Given the description of an element on the screen output the (x, y) to click on. 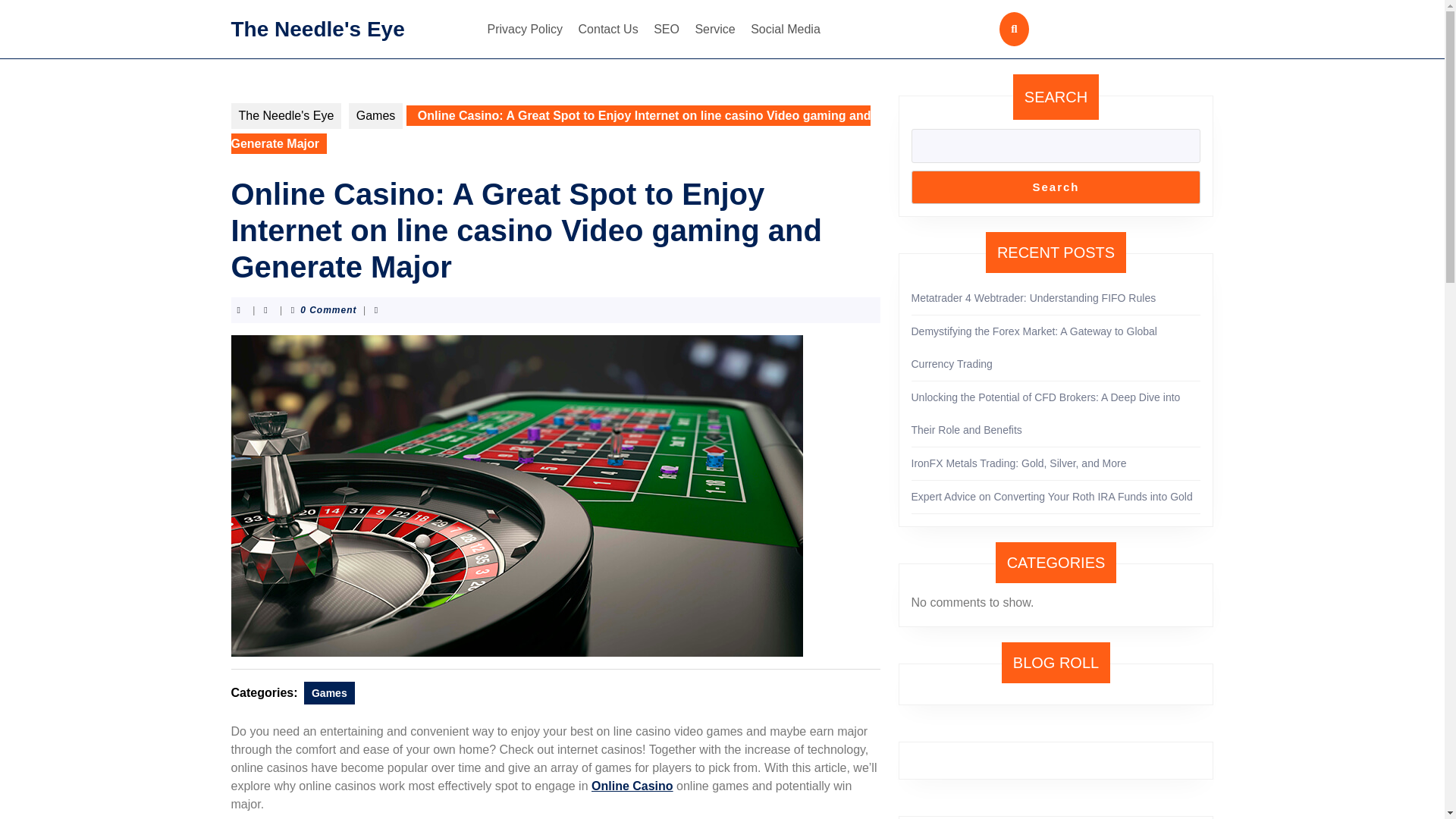
Games (376, 115)
Privacy Policy (524, 28)
Metatrader 4 Webtrader: Understanding FIFO Rules (1033, 297)
The Needle's Eye (285, 115)
Social Media (785, 28)
Contact Us (608, 28)
The Needle's Eye (317, 28)
IronFX Metals Trading: Gold, Silver, and More (1018, 463)
Online Casino (631, 785)
SEO (666, 28)
Expert Advice on Converting Your Roth IRA Funds into Gold (1051, 496)
Search (1056, 186)
Games (329, 692)
